Given the description of an element on the screen output the (x, y) to click on. 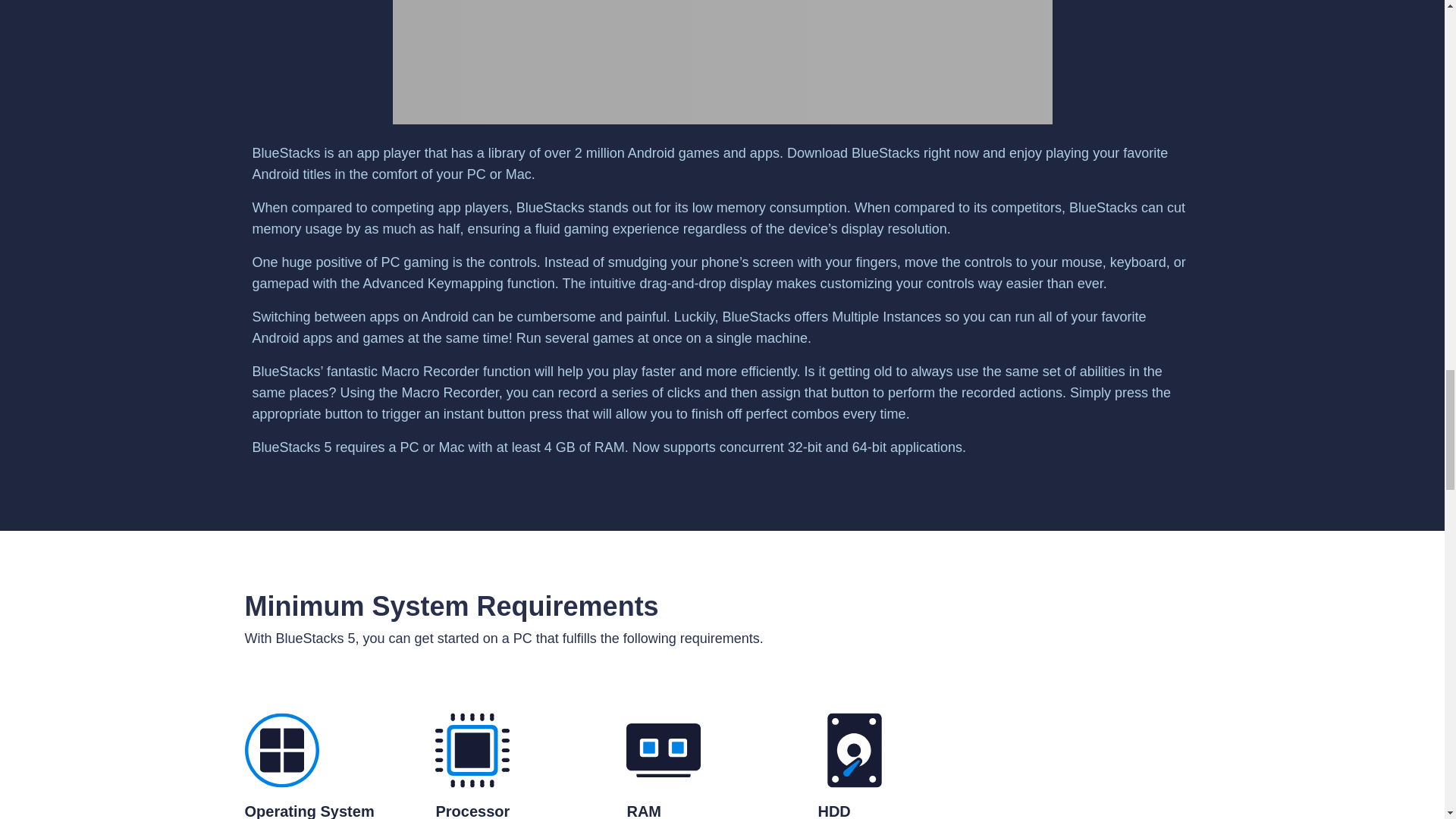
how-to-play-steps - desktop (722, 62)
